Given the description of an element on the screen output the (x, y) to click on. 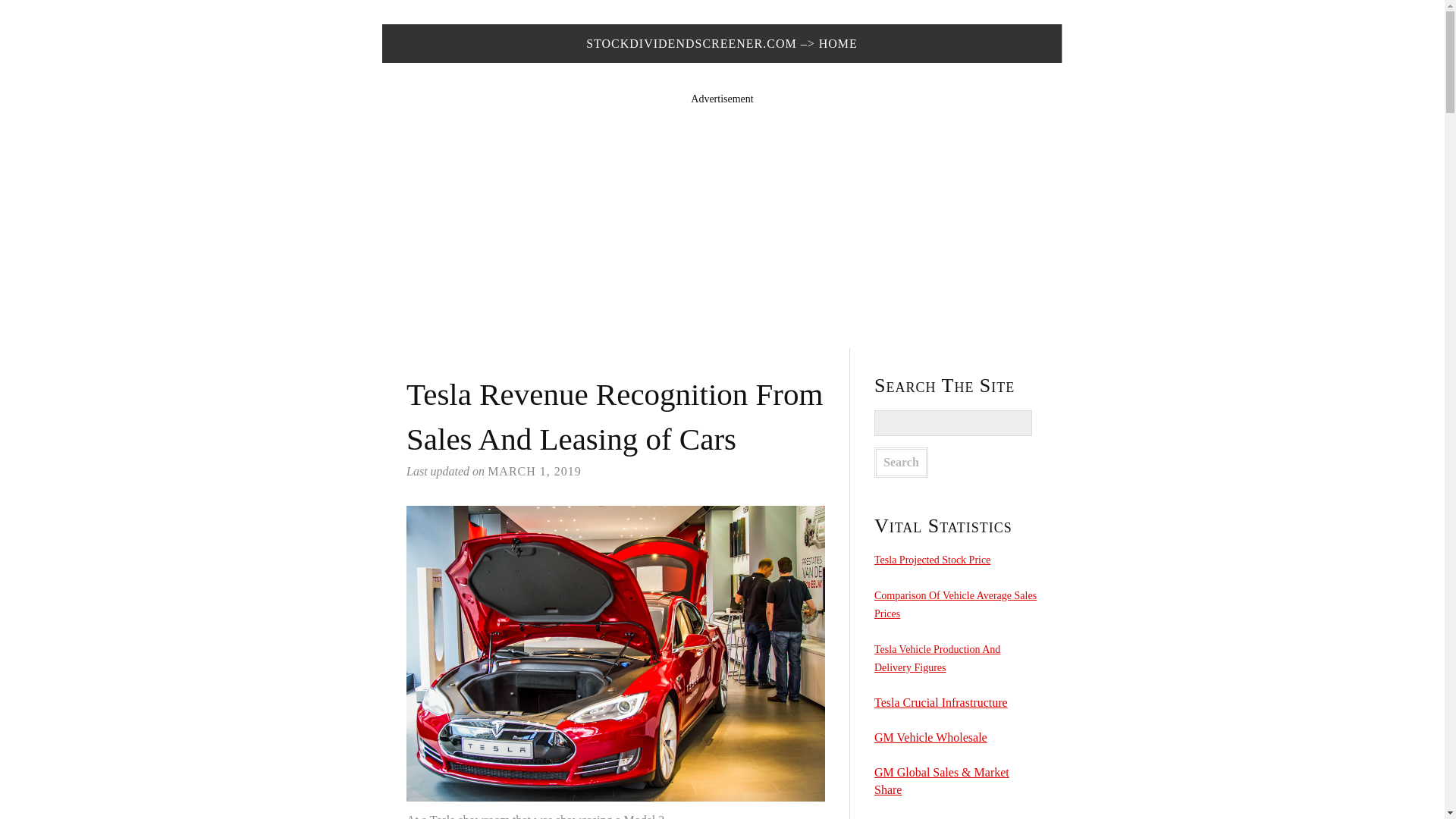
Tesla Vehicle Production And Delivery Figures (937, 658)
Comparison Of Vehicle Average Sales Prices (955, 604)
GM Vehicle Wholesale (931, 737)
2019-03-01 (533, 471)
Tesla Crucial Infrastructure (941, 702)
Tesla Projected Stock Price (932, 559)
Search (901, 462)
Search (901, 462)
